Given the description of an element on the screen output the (x, y) to click on. 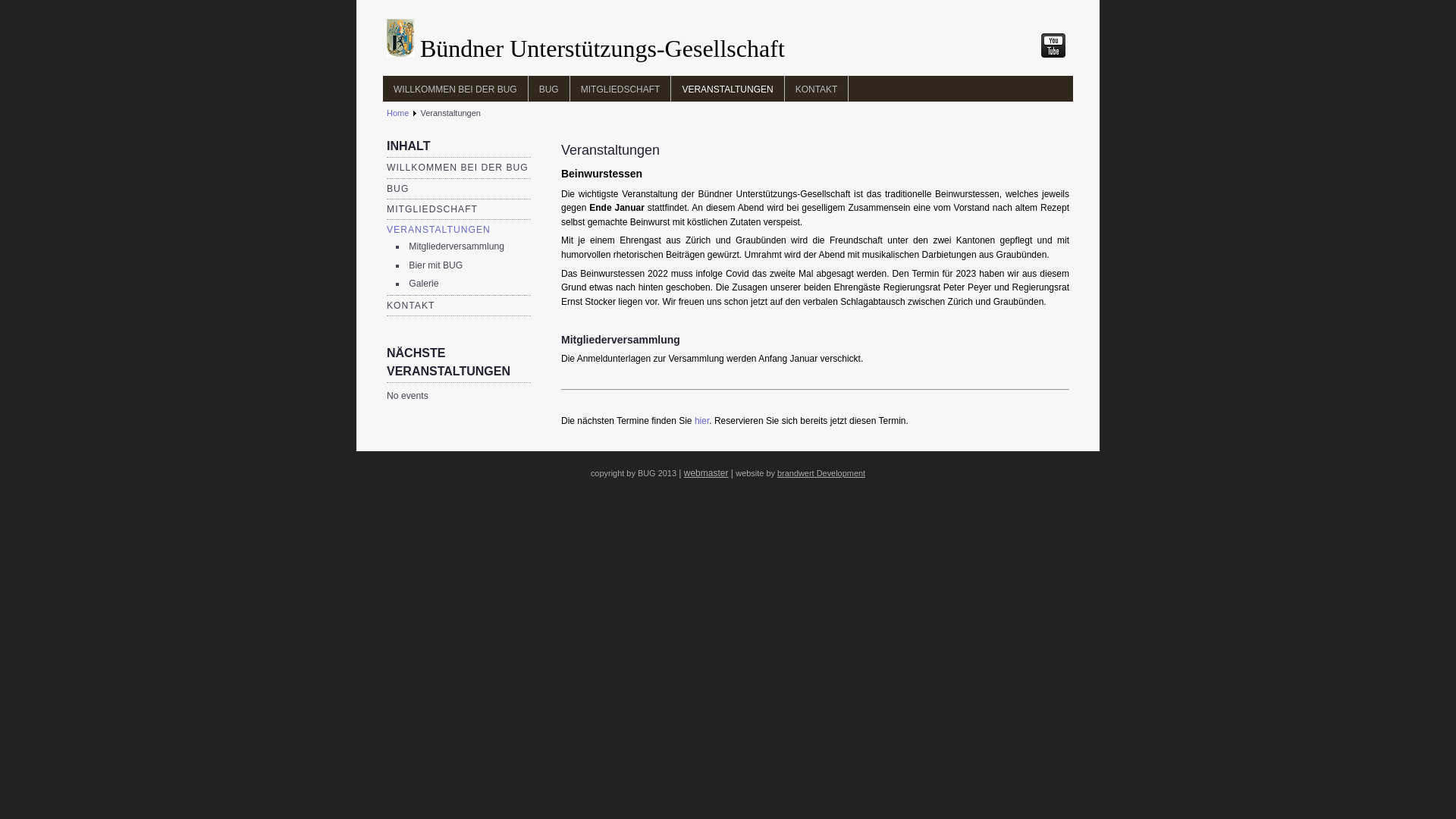
VERANSTALTUNGEN Element type: text (438, 229)
Mitgliederversammlung Element type: text (456, 246)
MITGLIEDSCHAFT Element type: text (431, 208)
WILLKOMMEN BEI DER BUG Element type: text (457, 167)
brandwert Development Element type: text (821, 472)
BUG Element type: text (549, 88)
webmaster Element type: text (706, 472)
WILLKOMMEN BEI DER BUG Element type: text (455, 88)
Galerie Element type: text (423, 283)
VERANSTALTUNGEN Element type: text (727, 88)
KONTAKT Element type: text (816, 88)
BUG Element type: text (397, 188)
Bier mit BUG Element type: text (435, 265)
Home Element type: text (397, 112)
KONTAKT Element type: text (410, 305)
MITGLIEDSCHAFT Element type: text (620, 88)
Youtube Element type: hover (1053, 45)
hier Element type: text (701, 420)
